Given the description of an element on the screen output the (x, y) to click on. 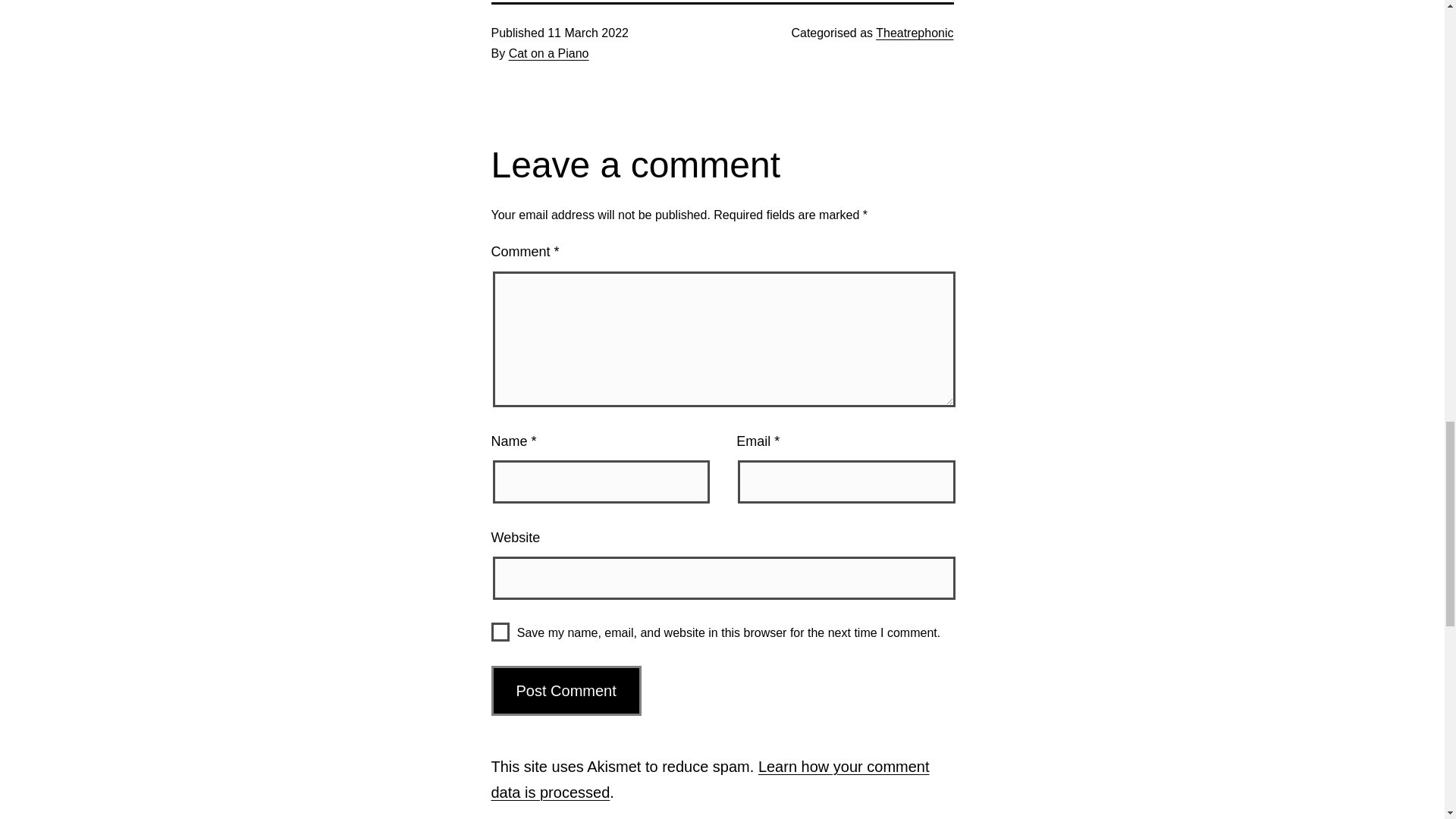
Post Comment (567, 690)
Theatrephonic (914, 32)
Post Comment (567, 690)
Cat on a Piano (548, 52)
Learn how your comment data is processed (711, 779)
yes (500, 631)
